Given the description of an element on the screen output the (x, y) to click on. 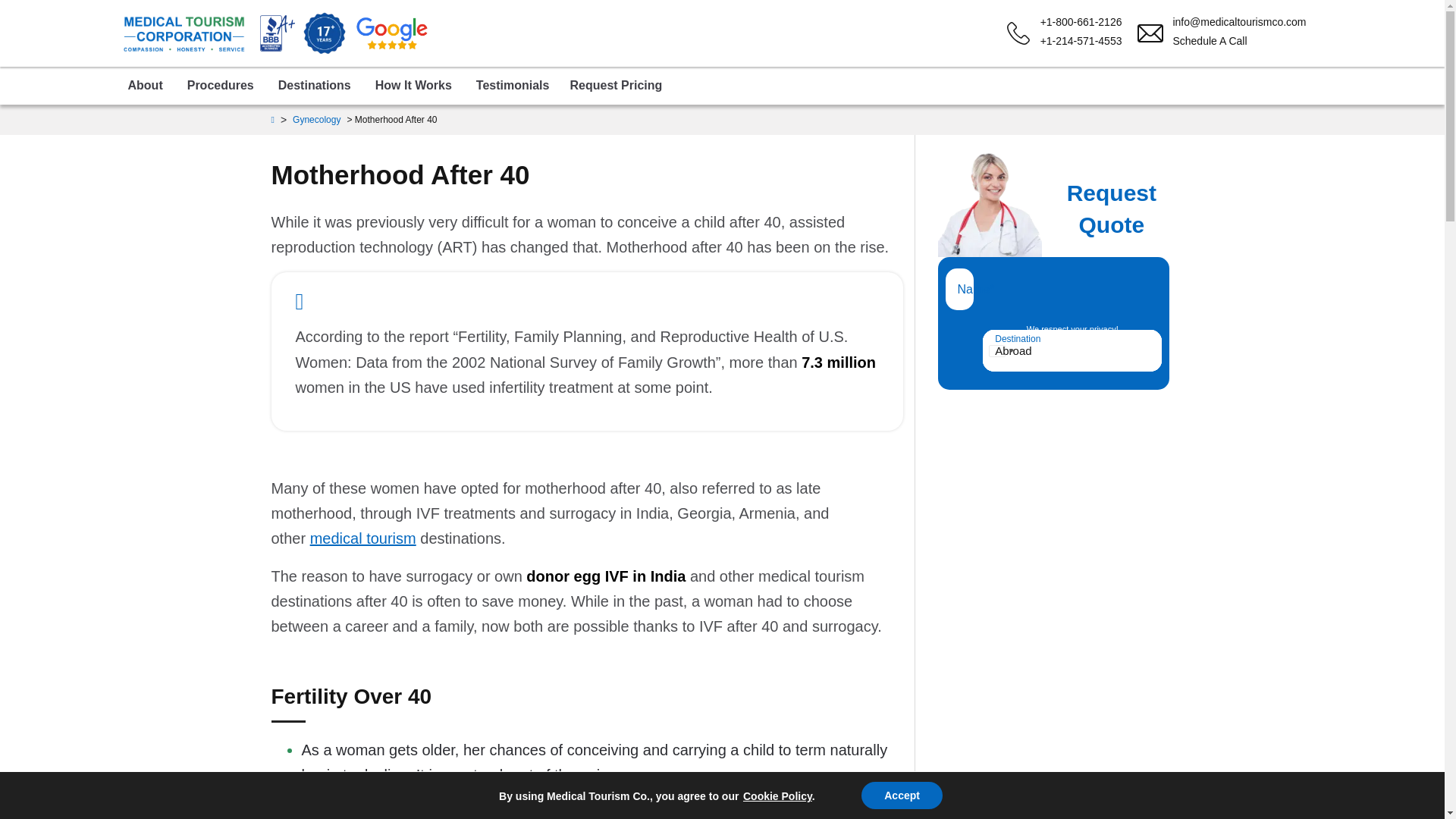
Submit (1071, 350)
Schedule A Call (1230, 40)
Abroad (1071, 350)
About (144, 85)
We use cookies (777, 796)
Destinations (314, 85)
Procedures (220, 85)
